Given the description of an element on the screen output the (x, y) to click on. 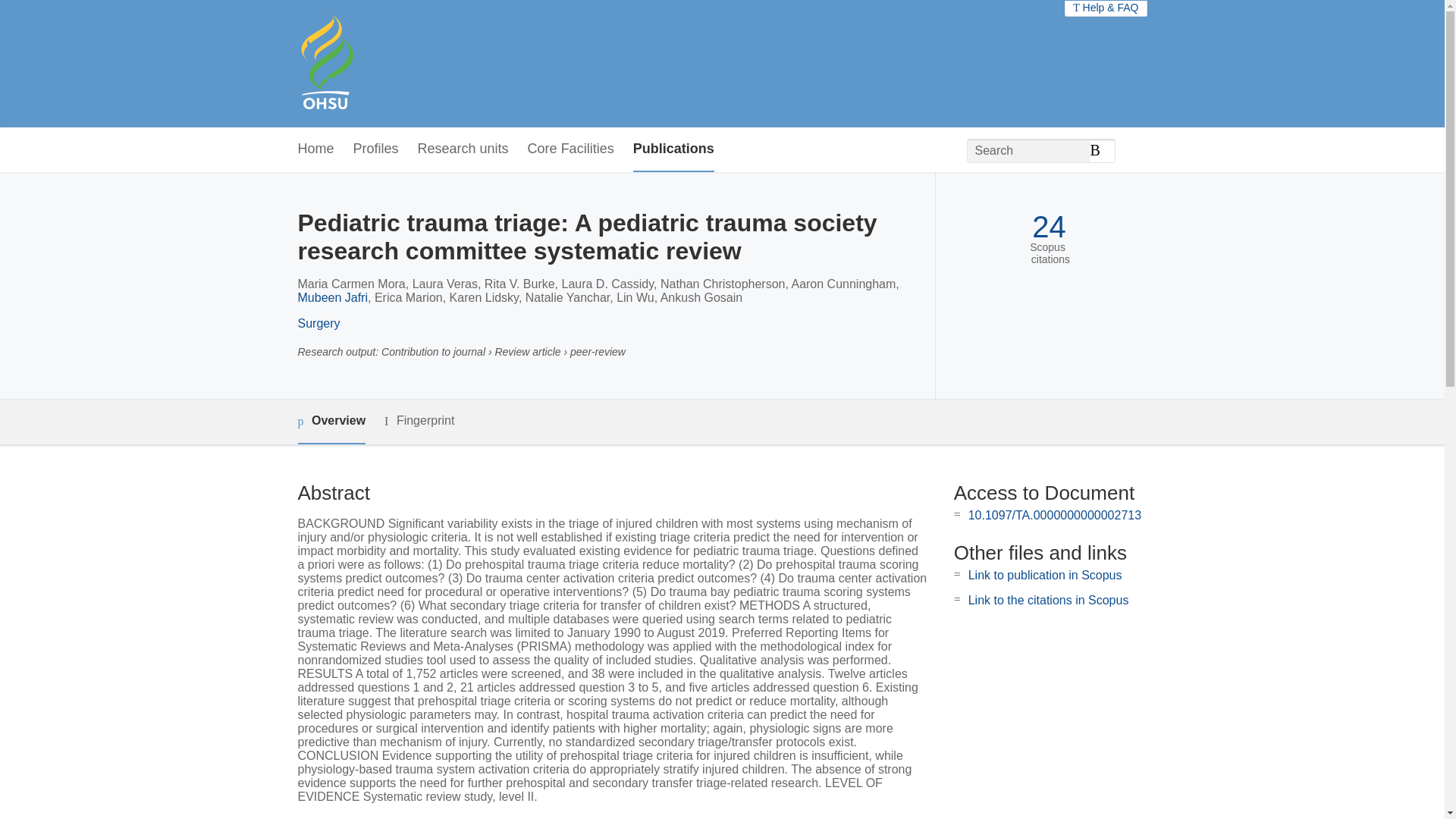
Research units (462, 149)
Profiles (375, 149)
Core Facilities (570, 149)
Overview (331, 421)
Link to the citations in Scopus (1048, 599)
Publications (673, 149)
Link to publication in Scopus (1045, 574)
24 (1048, 226)
Surgery (318, 323)
Fingerprint (419, 421)
Mubeen Jafri (332, 297)
